Given the description of an element on the screen output the (x, y) to click on. 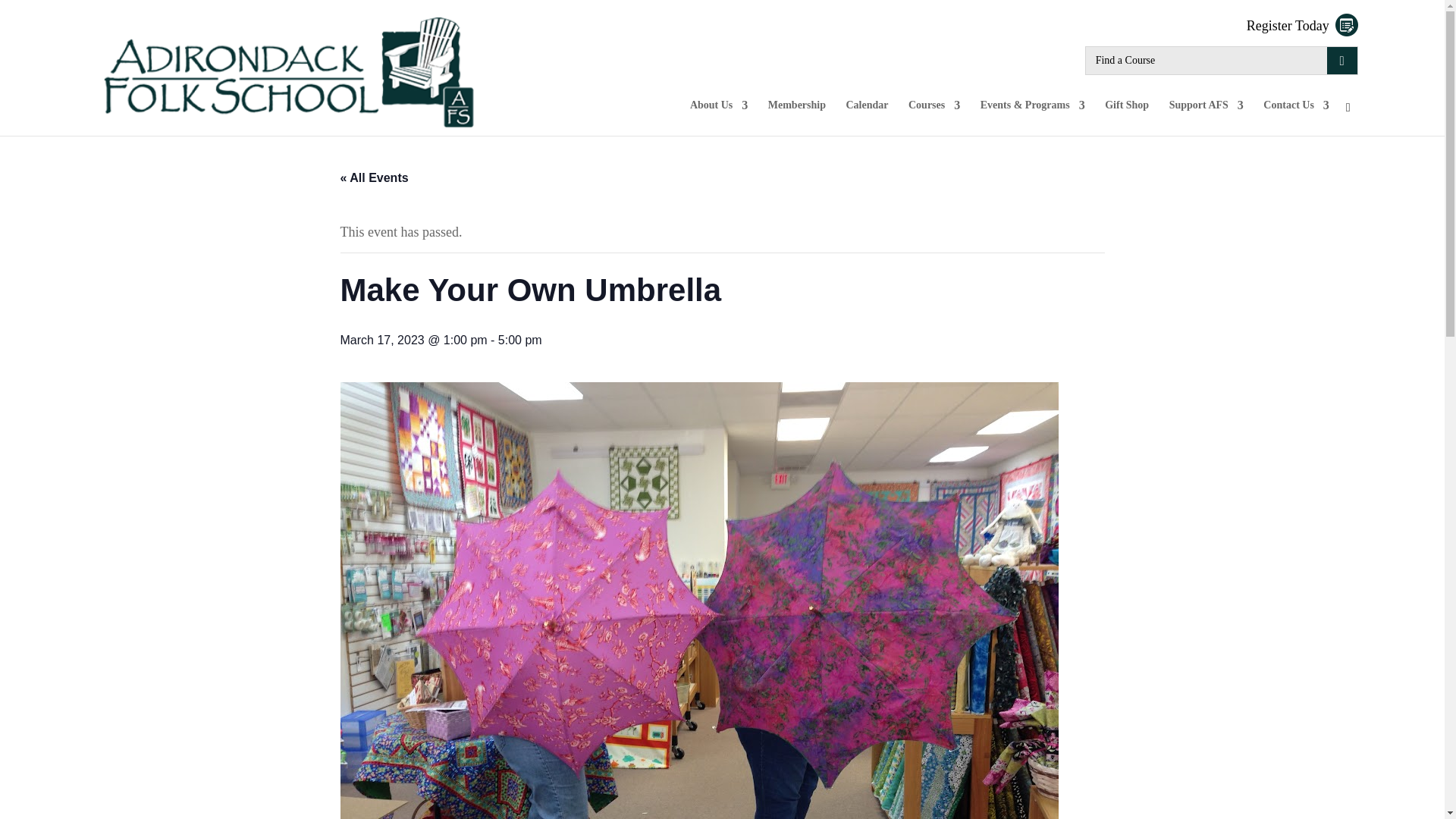
About Us (719, 117)
Courses (933, 117)
Register Today (1302, 25)
Membership (796, 117)
Calendar (866, 117)
